Given the description of an element on the screen output the (x, y) to click on. 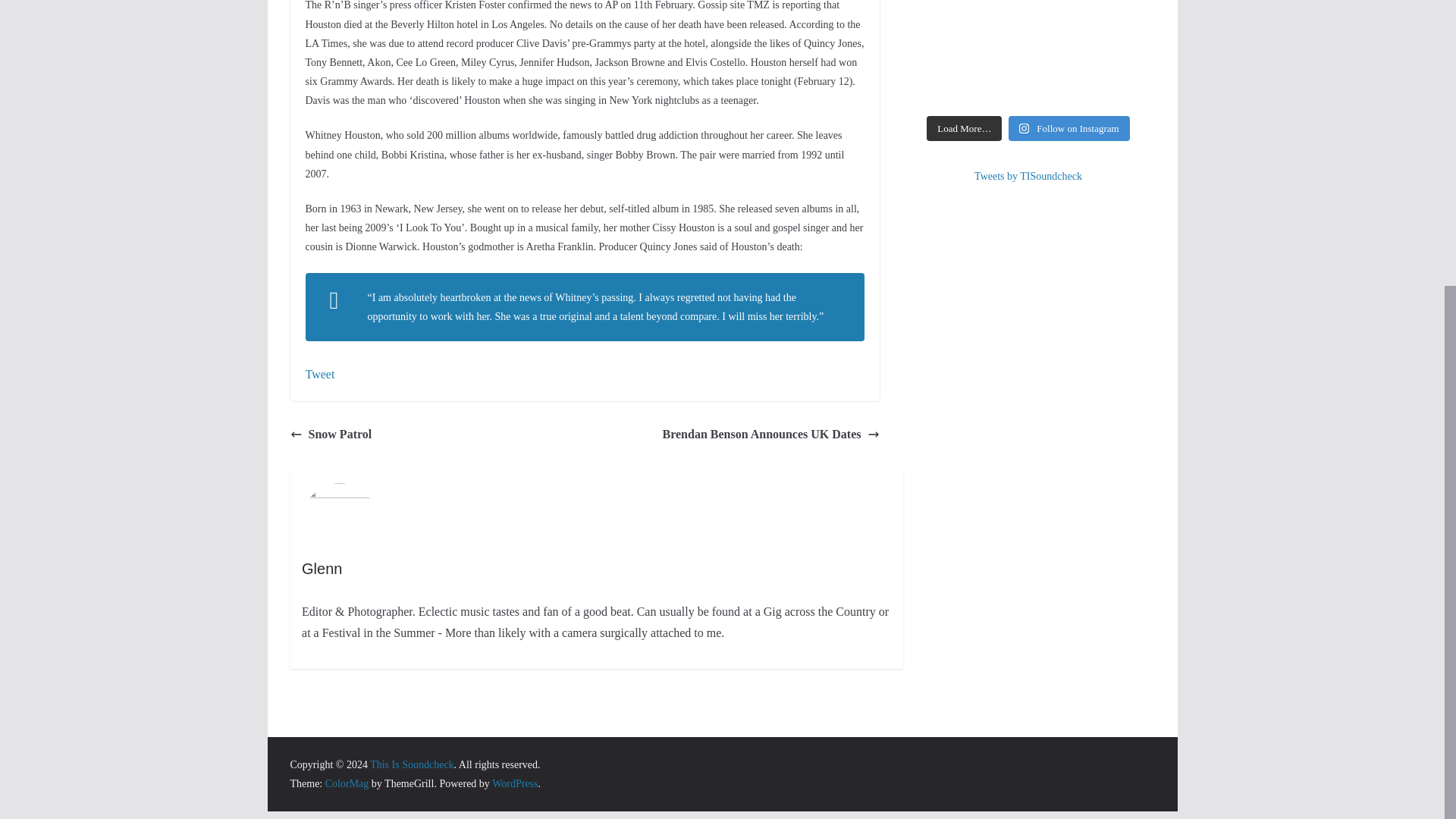
Tweets by TISoundcheck (1027, 175)
ColorMag (346, 783)
WordPress (514, 783)
This Is Soundcheck (410, 764)
Follow on Instagram (1069, 128)
This Is Soundcheck (410, 764)
Brendan Benson Announces UK Dates (770, 434)
ColorMag (346, 783)
Tweet (319, 373)
Snow Patrol (330, 434)
WordPress (514, 783)
